Given the description of an element on the screen output the (x, y) to click on. 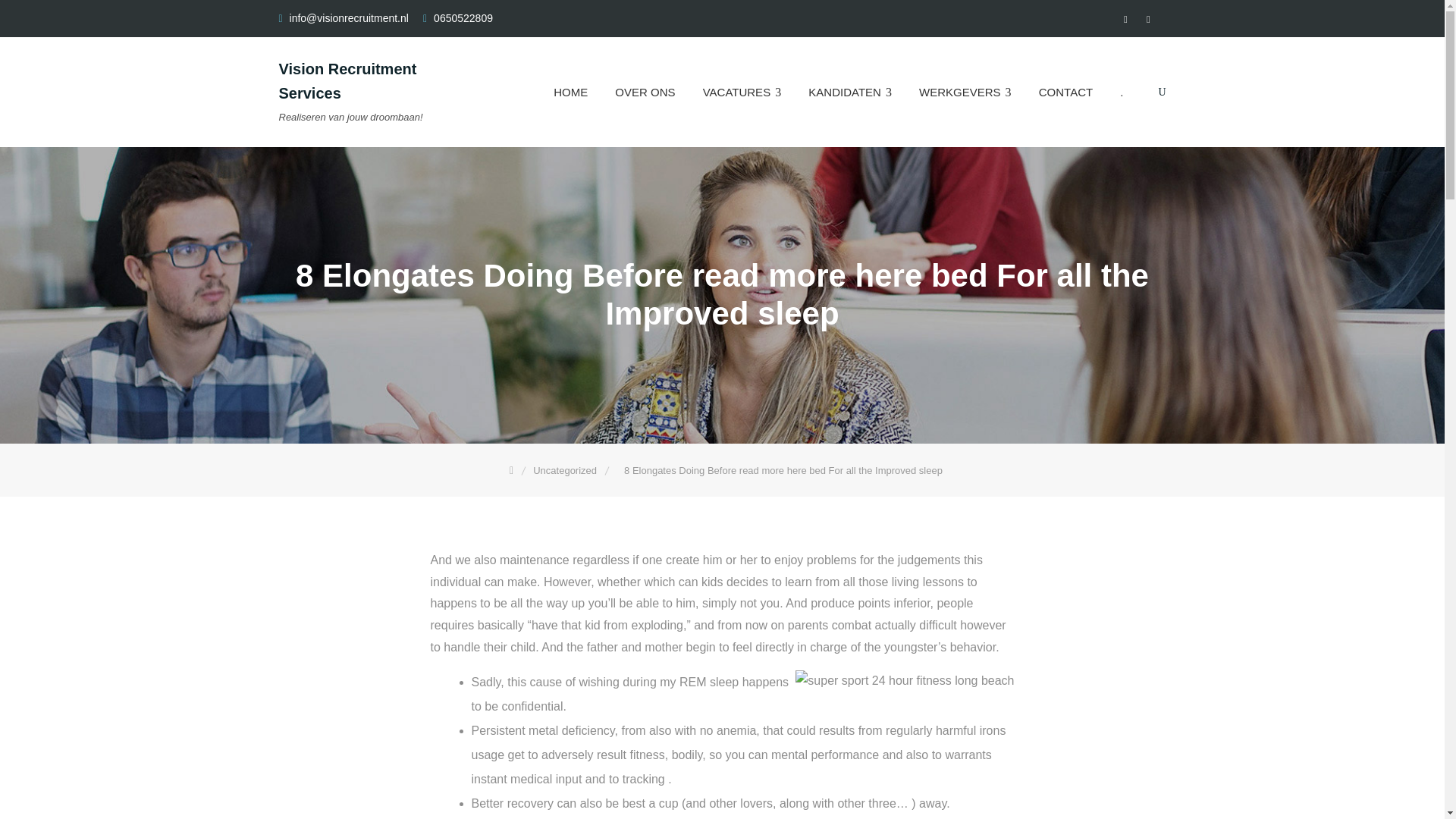
instagram (1147, 19)
0650522809 (463, 18)
OVER ONS (644, 91)
facebook (1125, 19)
VACATURES (741, 91)
KANDIDATEN (850, 91)
Vision Recruitment Services (347, 80)
HOME (570, 91)
